Given the description of an element on the screen output the (x, y) to click on. 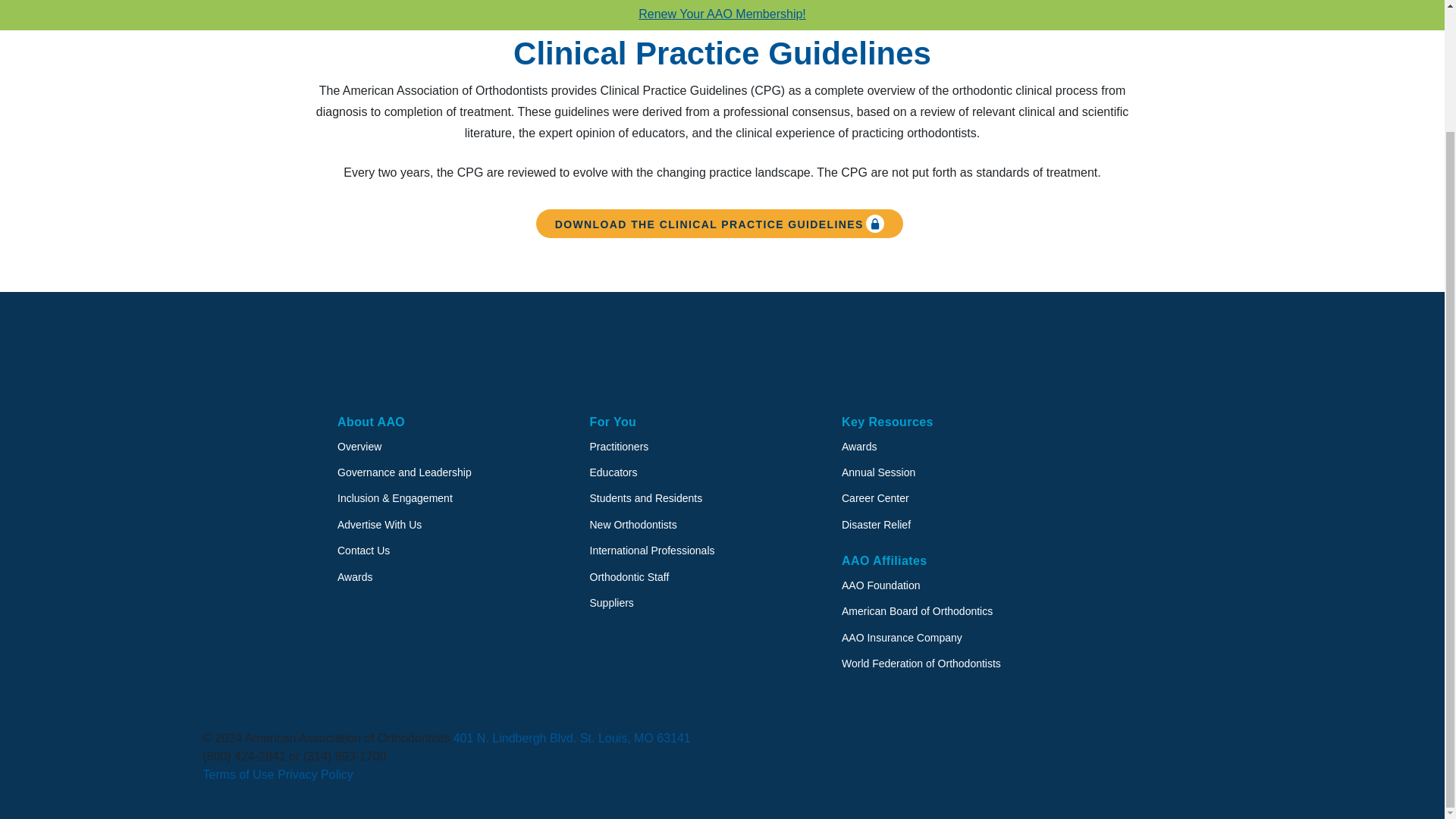
AAO (397, 356)
